Given the description of an element on the screen output the (x, y) to click on. 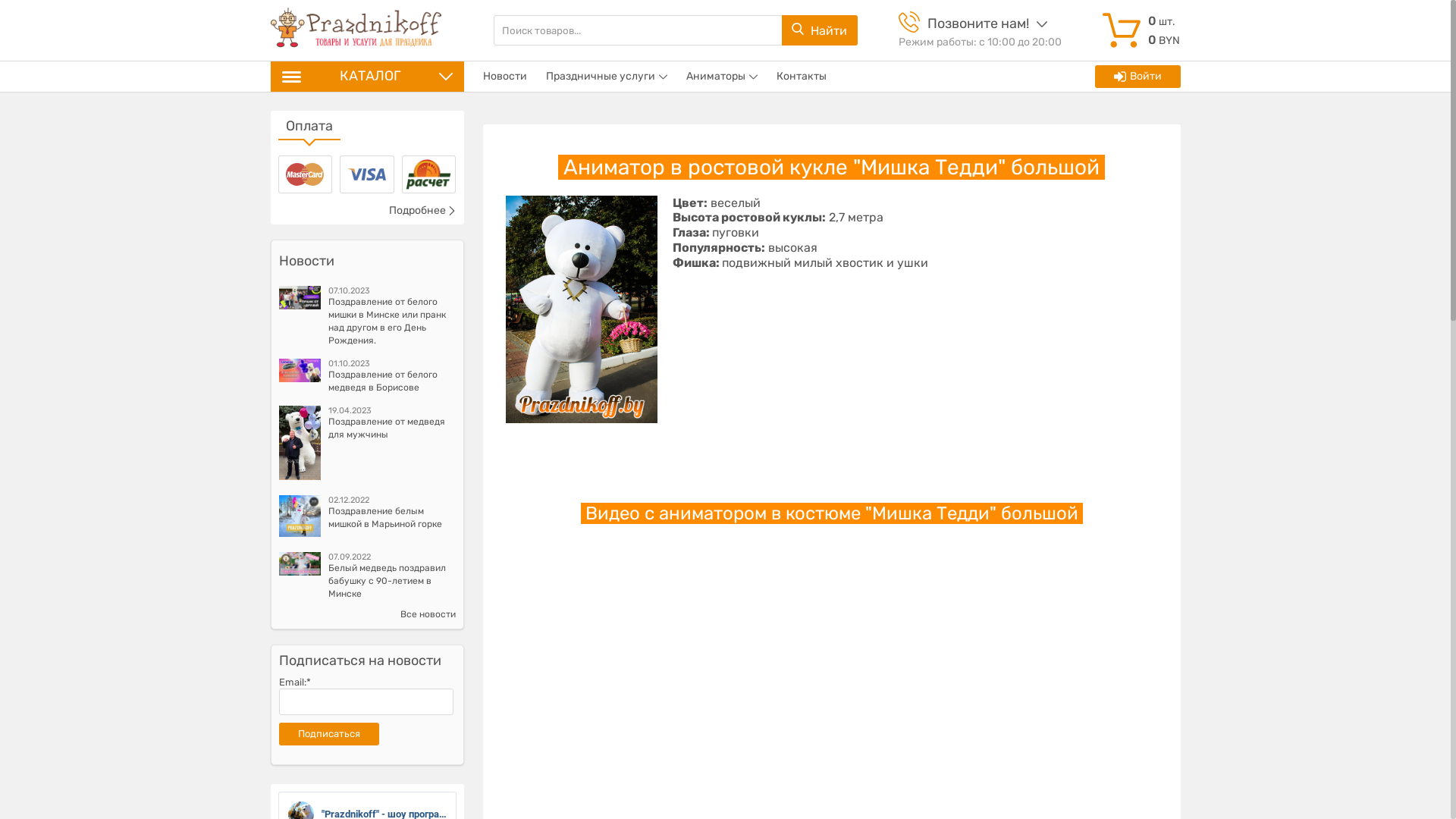
ERIP Element type: hover (428, 174)
Prazdnikoff.by Element type: hover (355, 30)
Visa Element type: hover (366, 174)
MasterCard Element type: hover (304, 174)
